Given the description of an element on the screen output the (x, y) to click on. 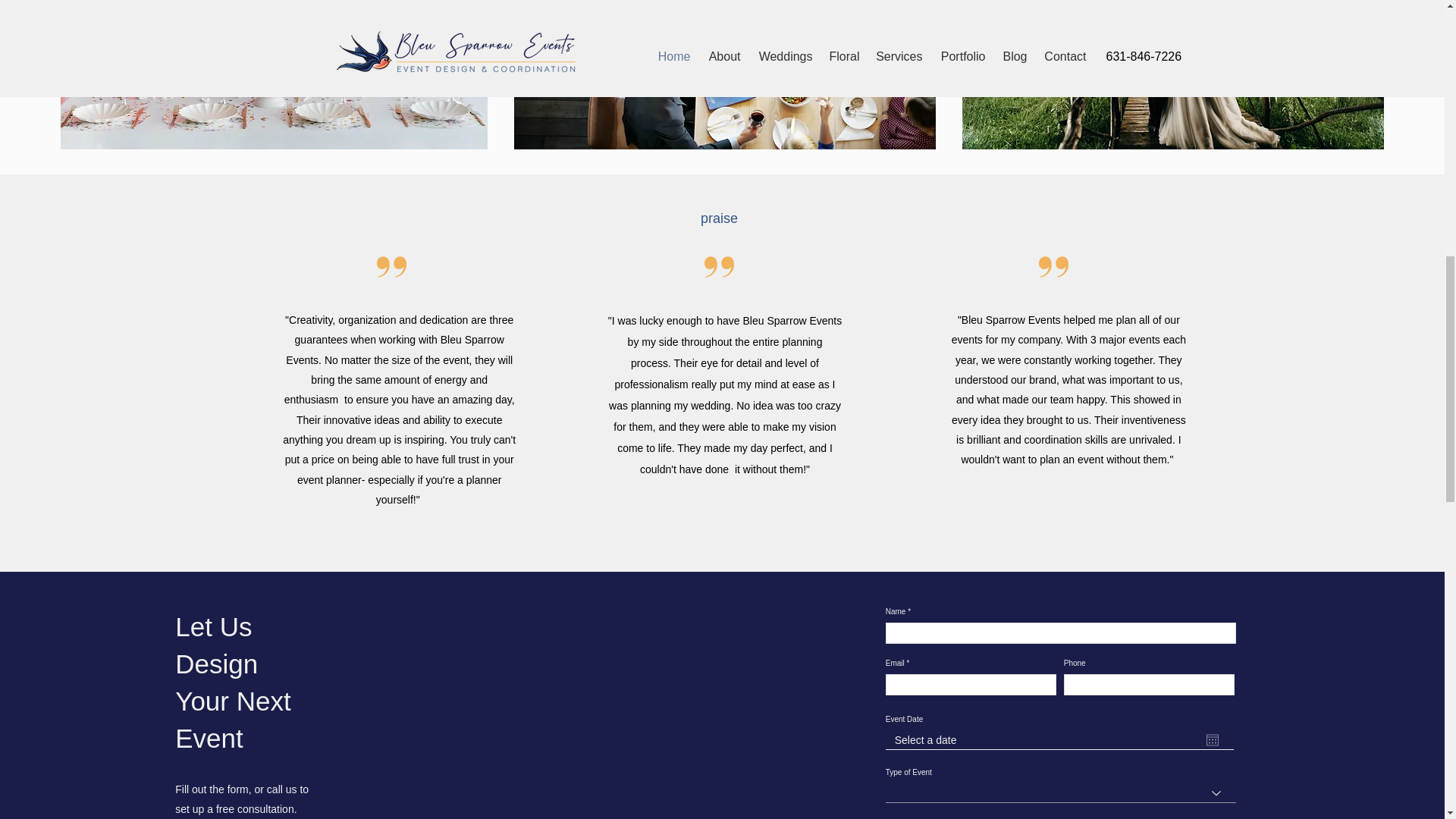
OUR SERVICES (733, 15)
